Given the description of an element on the screen output the (x, y) to click on. 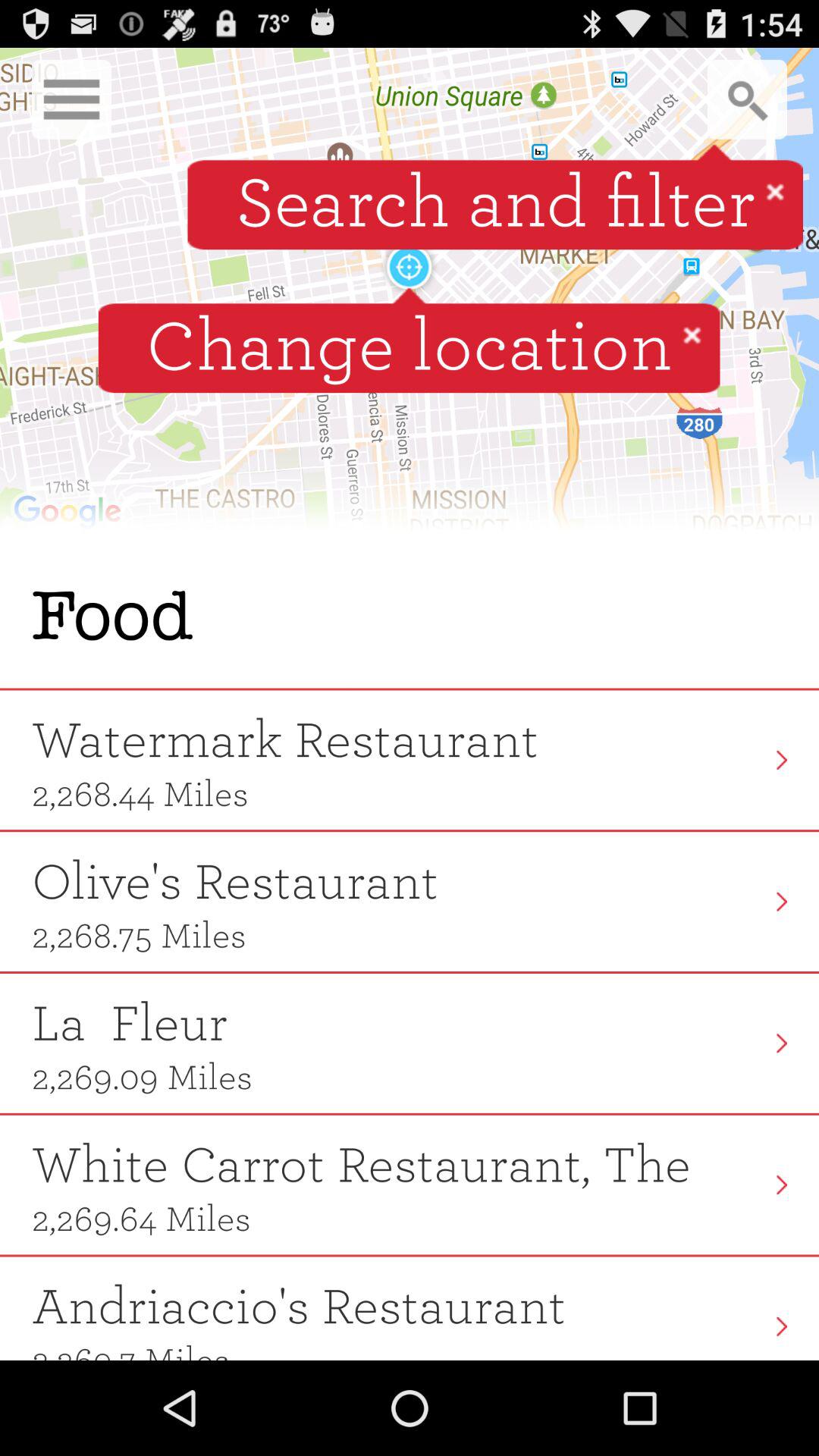
remove search and filter (775, 191)
